Given the description of an element on the screen output the (x, y) to click on. 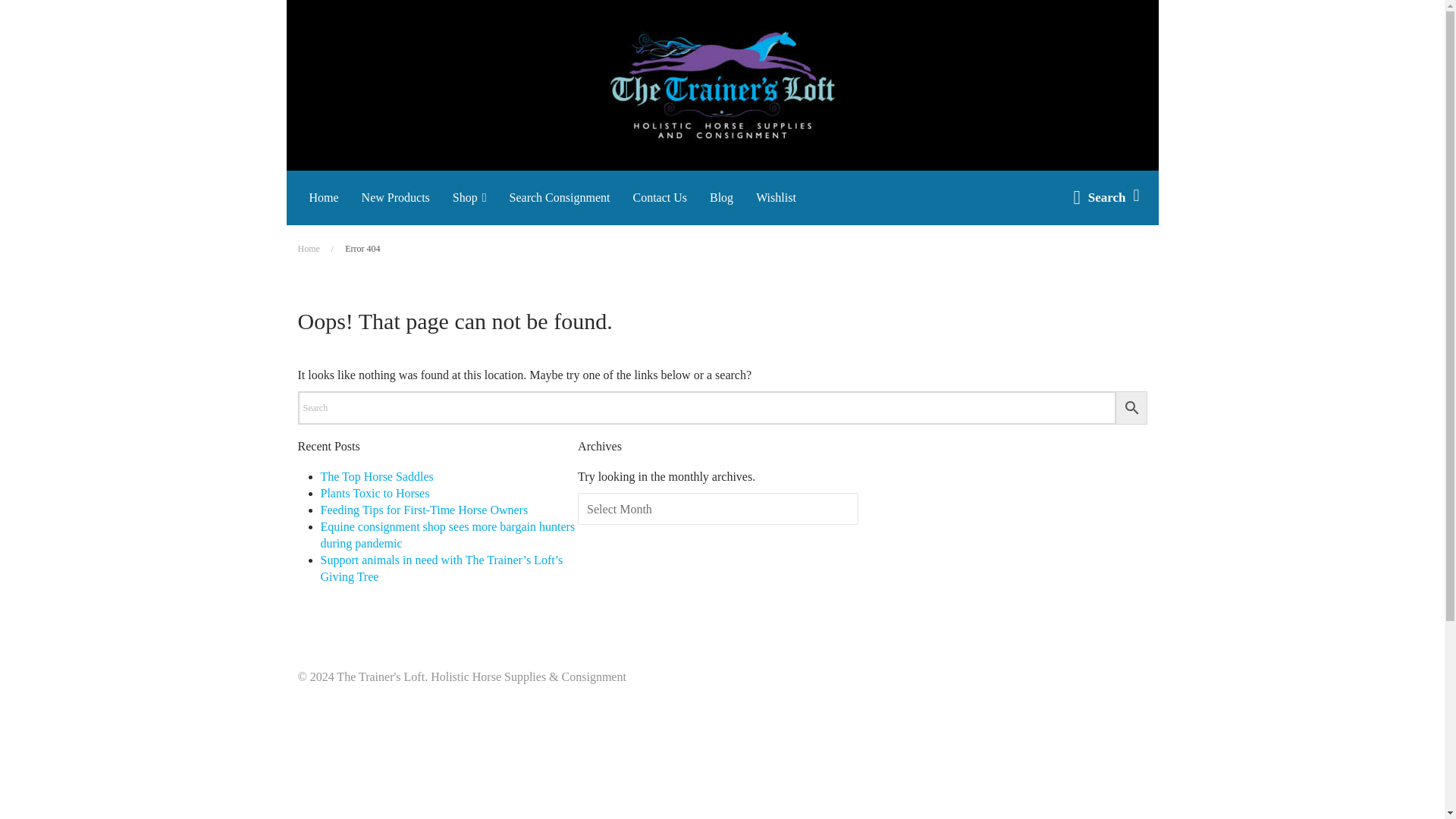
New Products (395, 197)
Home (323, 197)
Shop (469, 197)
Shop (469, 197)
